Given the description of an element on the screen output the (x, y) to click on. 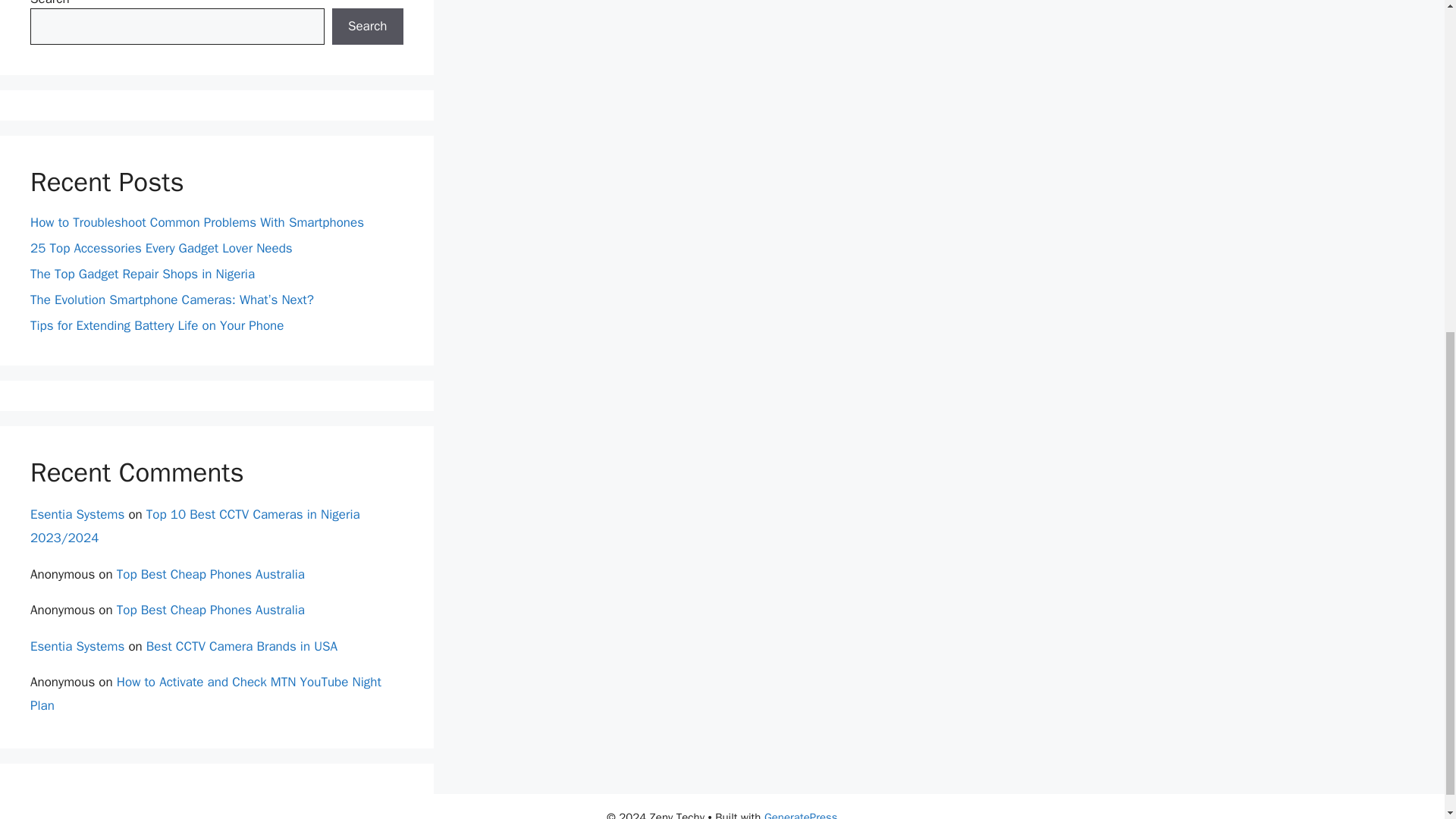
Top Best Cheap Phones Australia (210, 574)
25 Top Accessories Every Gadget Lover Needs (161, 248)
Top Best Cheap Phones Australia (210, 609)
Esentia Systems (76, 646)
Best CCTV Camera Brands in USA (242, 646)
Esentia Systems (76, 514)
How to Activate and Check MTN YouTube Night Plan (205, 693)
How to Troubleshoot Common Problems With Smartphones  (199, 222)
Search (367, 26)
The Top Gadget Repair Shops in Nigeria (142, 273)
